Given the description of an element on the screen output the (x, y) to click on. 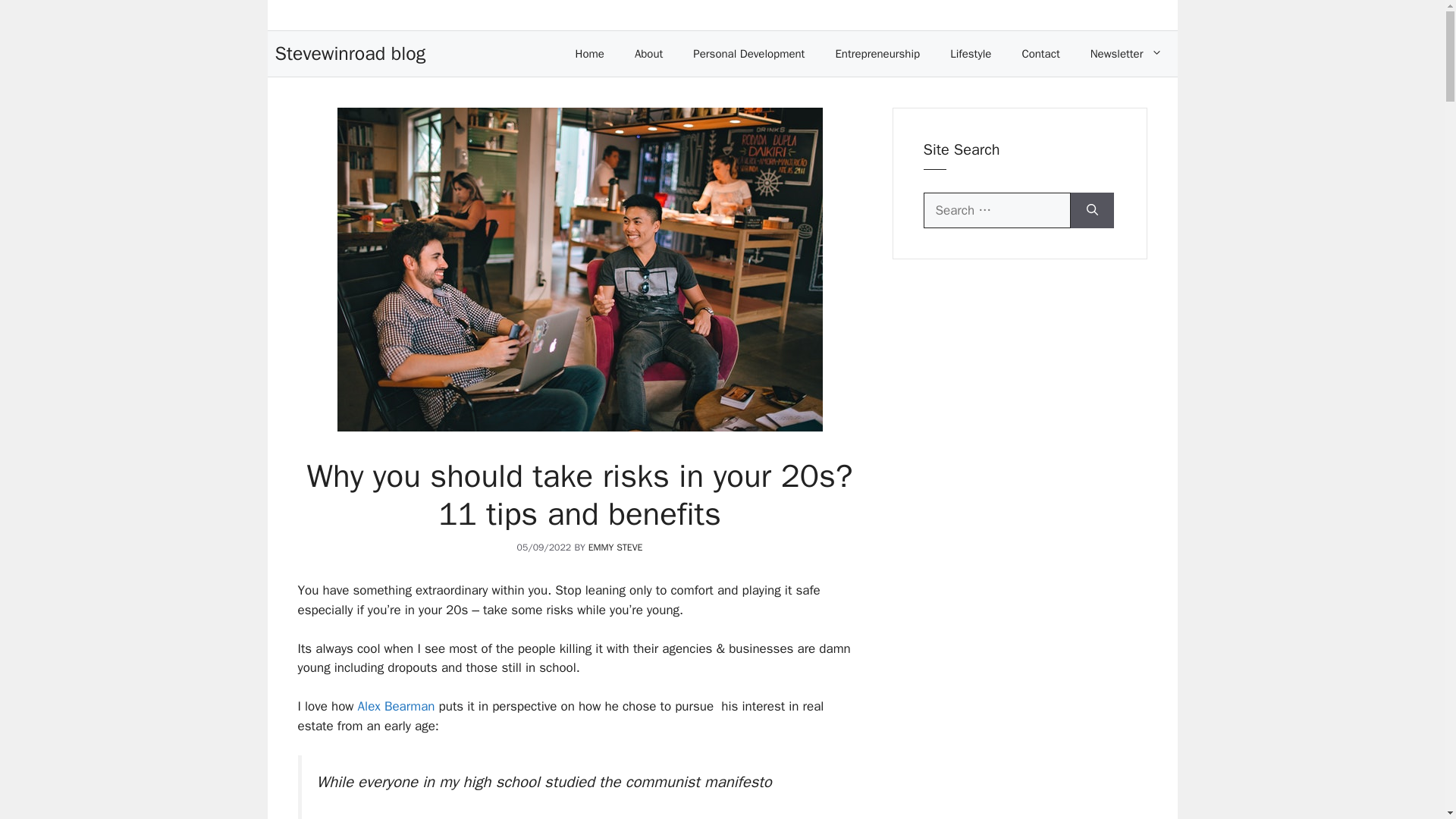
About (649, 53)
Entrepreneurship (876, 53)
View all posts by Emmy Steve (615, 547)
Stevewinroad blog (350, 53)
Personal Development (748, 53)
Alex Bearman (396, 706)
Contact (1040, 53)
EMMY STEVE (615, 547)
Lifestyle (970, 53)
Search for: (996, 210)
